Given the description of an element on the screen output the (x, y) to click on. 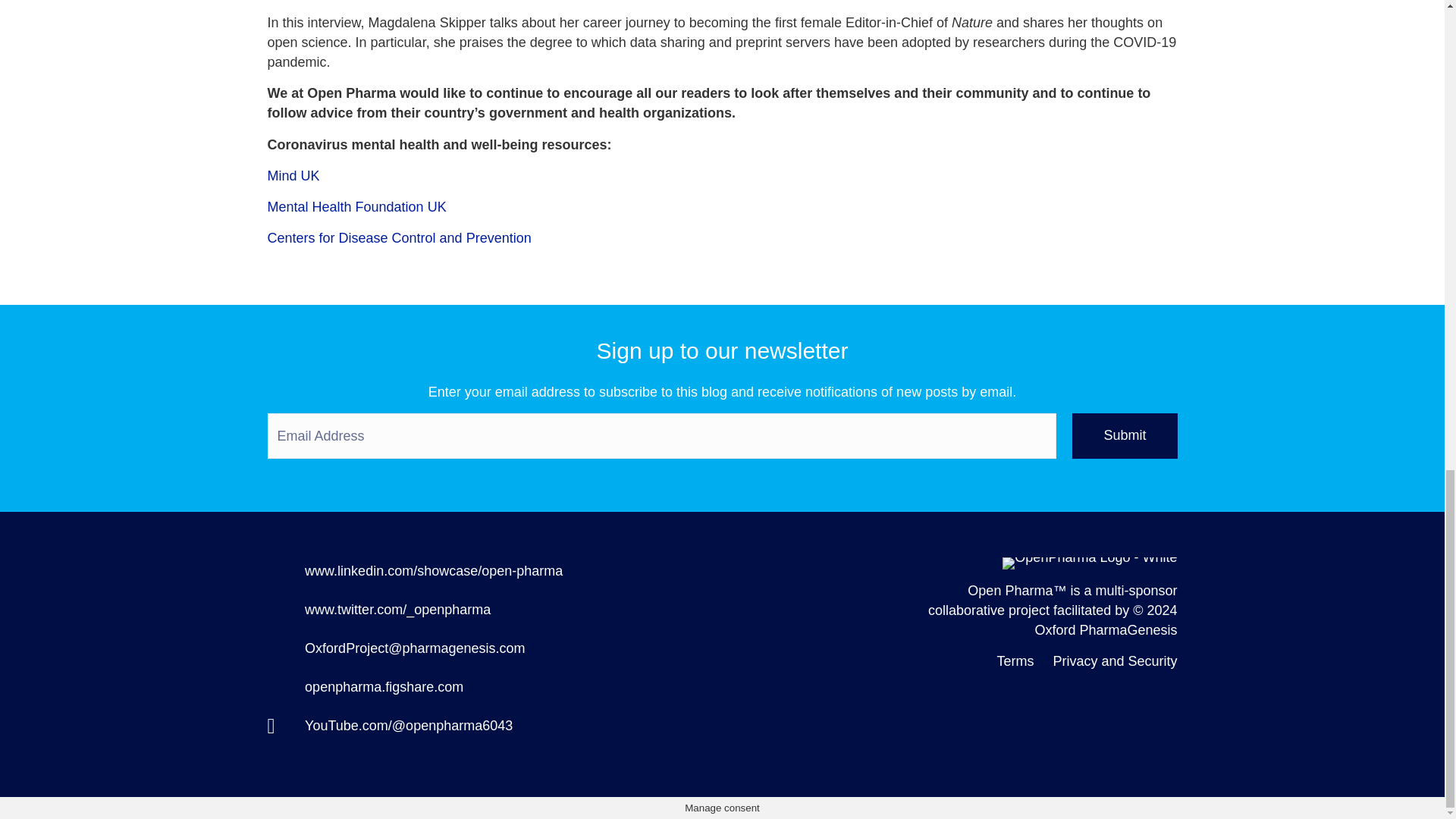
openpharma.figshare.com (383, 686)
Follow us on LinkedIn (433, 570)
Submit (1123, 435)
Centers for Disease Control and Prevention (398, 237)
OpenPharma Logo - White (1089, 563)
Follow us on Twitter (397, 609)
Visit OpenPharma Figs Share website (383, 686)
Terms (1014, 661)
Mind UK (292, 175)
Mental Health Foundation UK (355, 206)
